Given the description of an element on the screen output the (x, y) to click on. 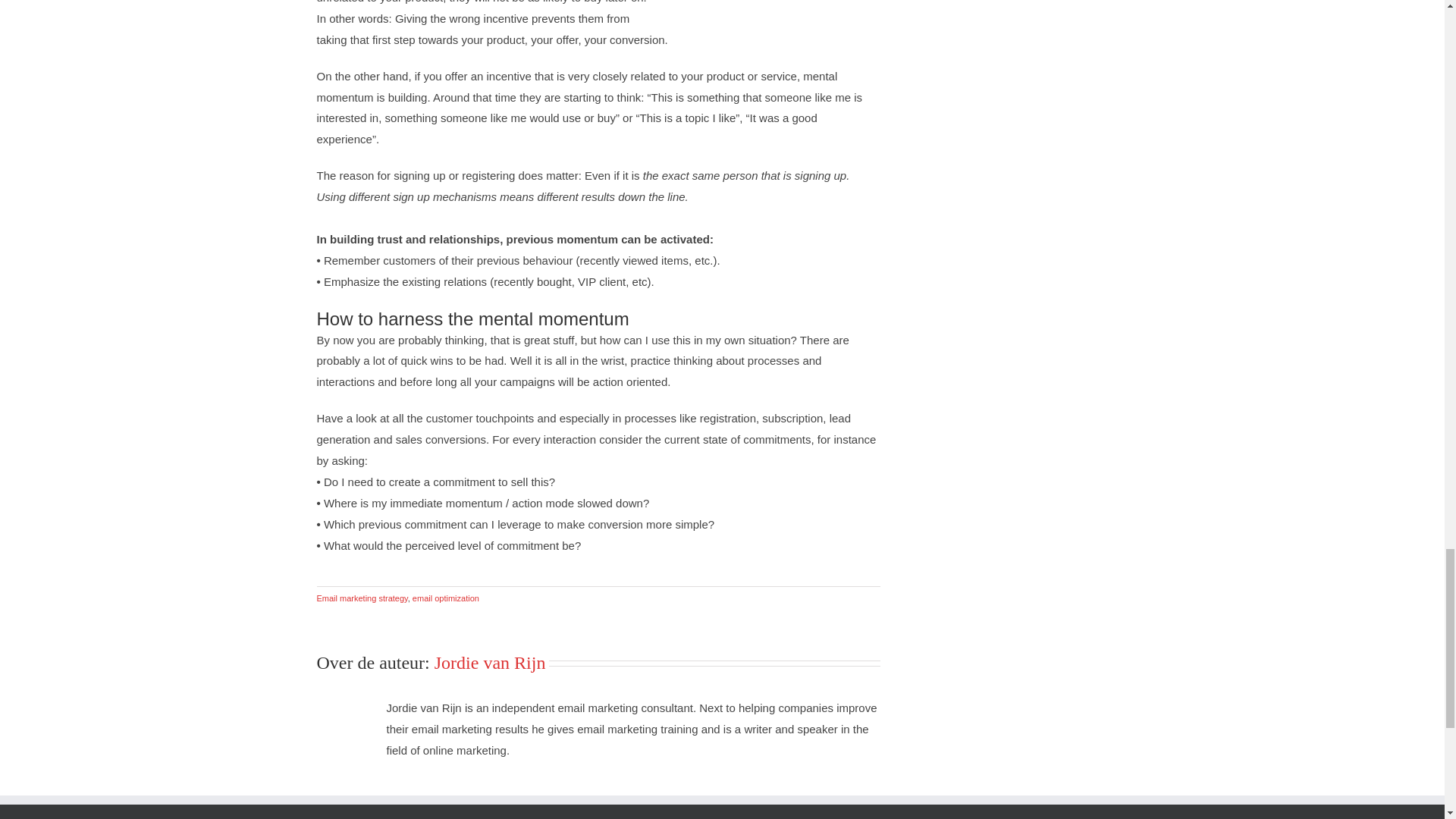
Berichten van Jordie van Rijn (489, 662)
